Given the description of an element on the screen output the (x, y) to click on. 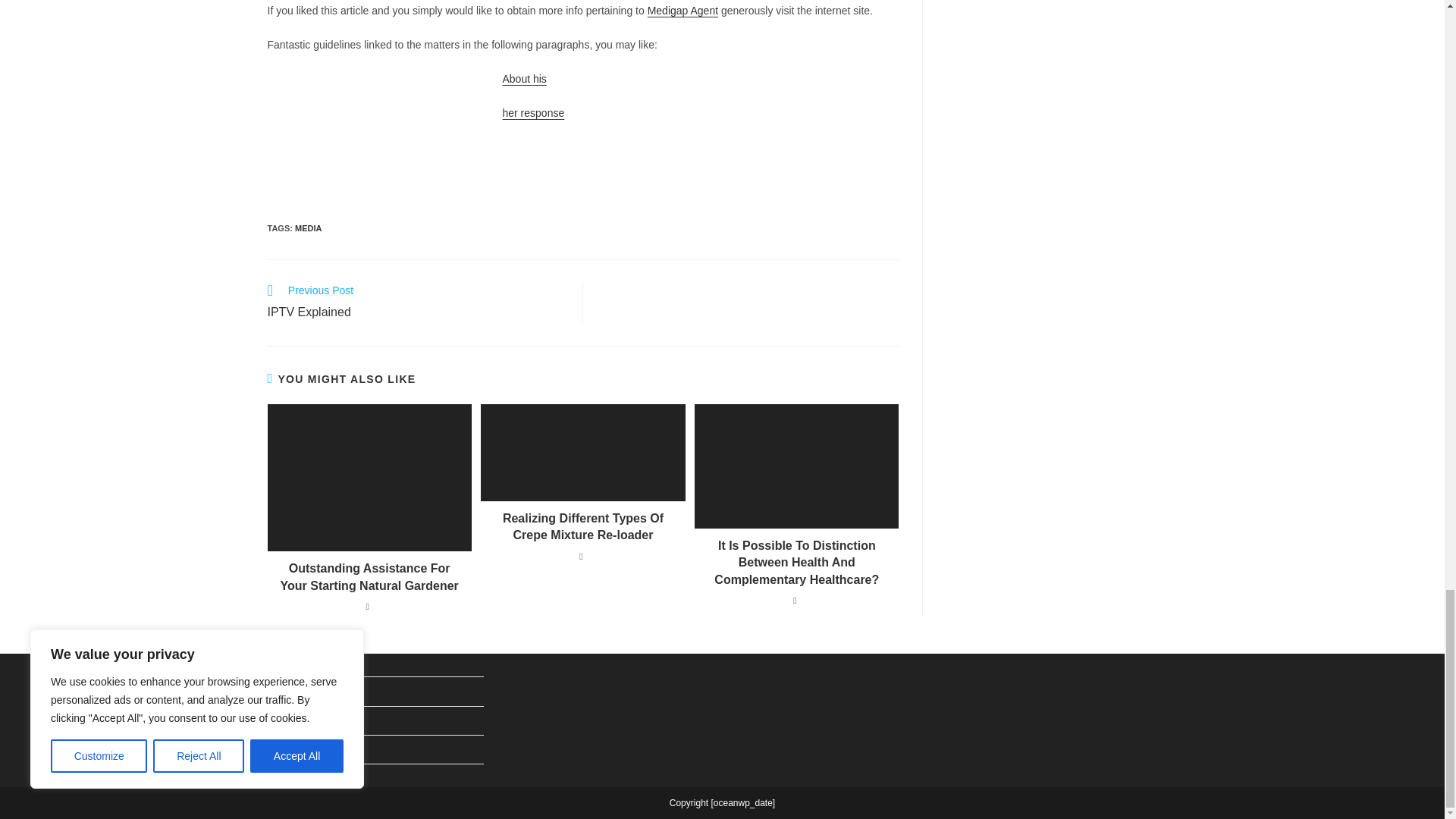
her response (533, 112)
MEDIA (308, 227)
Outstanding Assistance For Your Starting Natural Gardener (368, 577)
Medigap Agent (682, 10)
About his (524, 78)
